Given the description of an element on the screen output the (x, y) to click on. 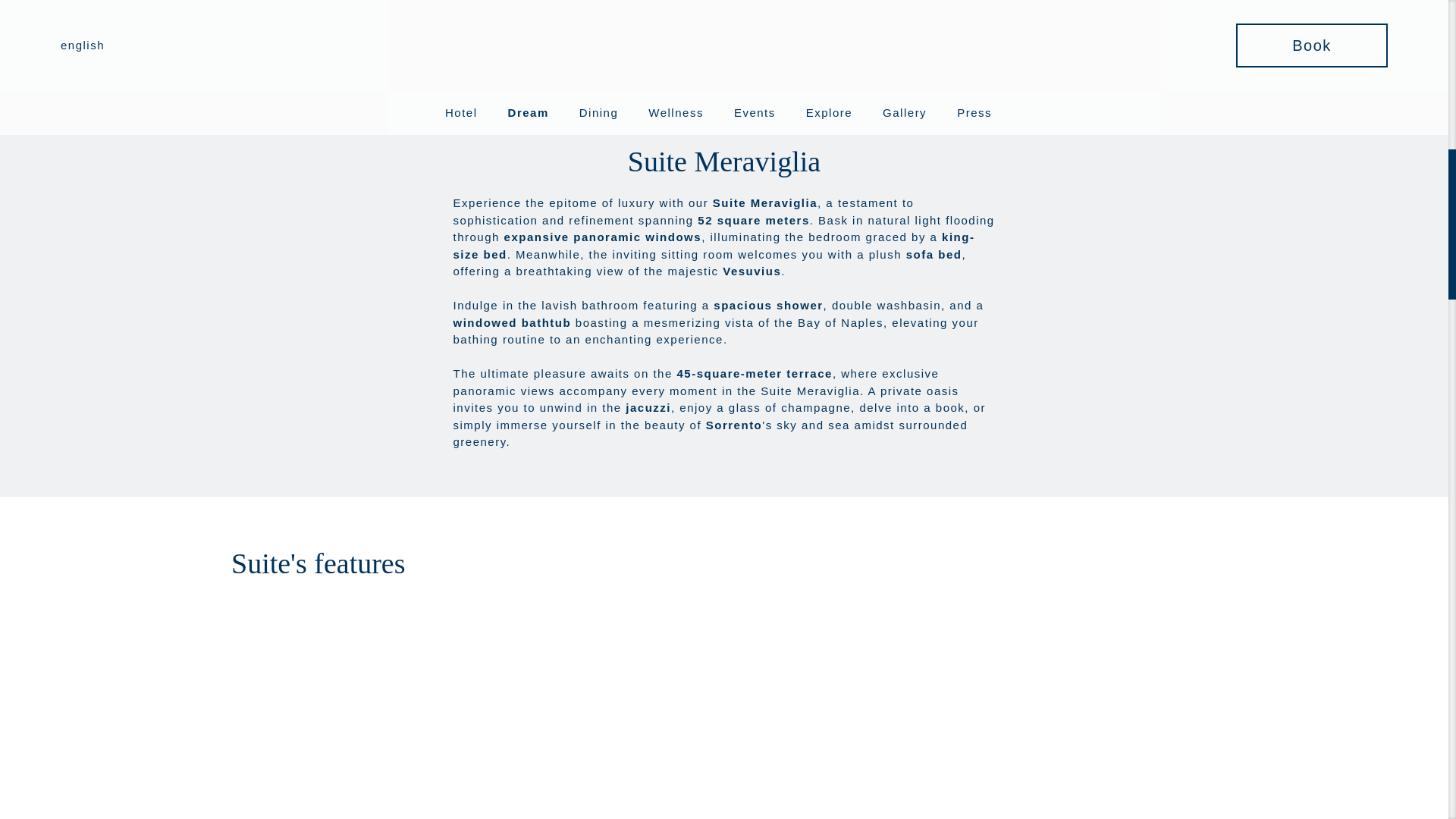
Suite's features (389, 562)
Suite Meraviglia (723, 161)
